Given the description of an element on the screen output the (x, y) to click on. 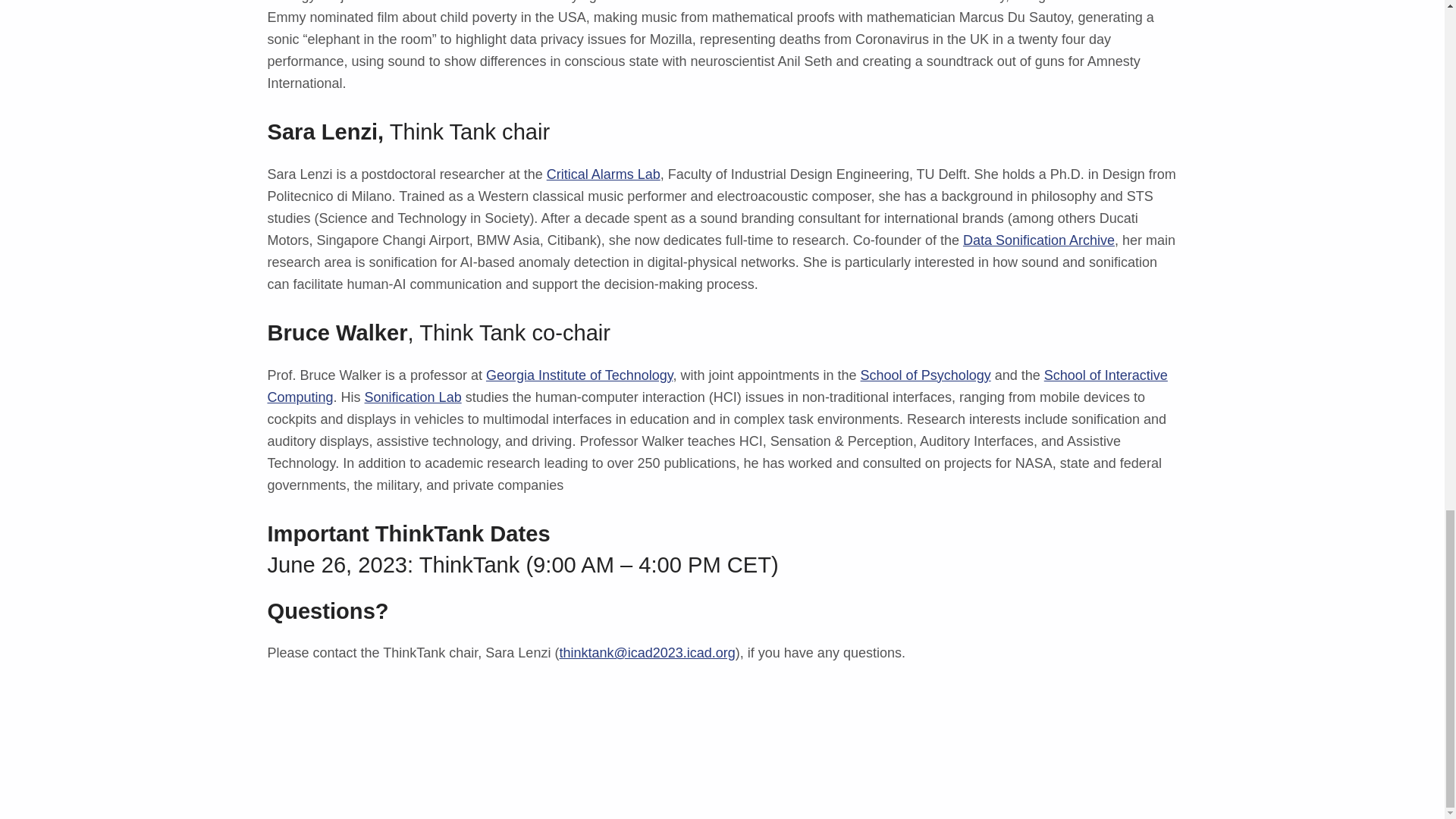
Sonification Lab (413, 396)
Data Sonification Archive (1038, 240)
School of Interactive Computing (716, 385)
School of Psychology (925, 375)
Critical Alarms Lab (604, 174)
Georgia Institute of Technology (579, 375)
